Given the description of an element on the screen output the (x, y) to click on. 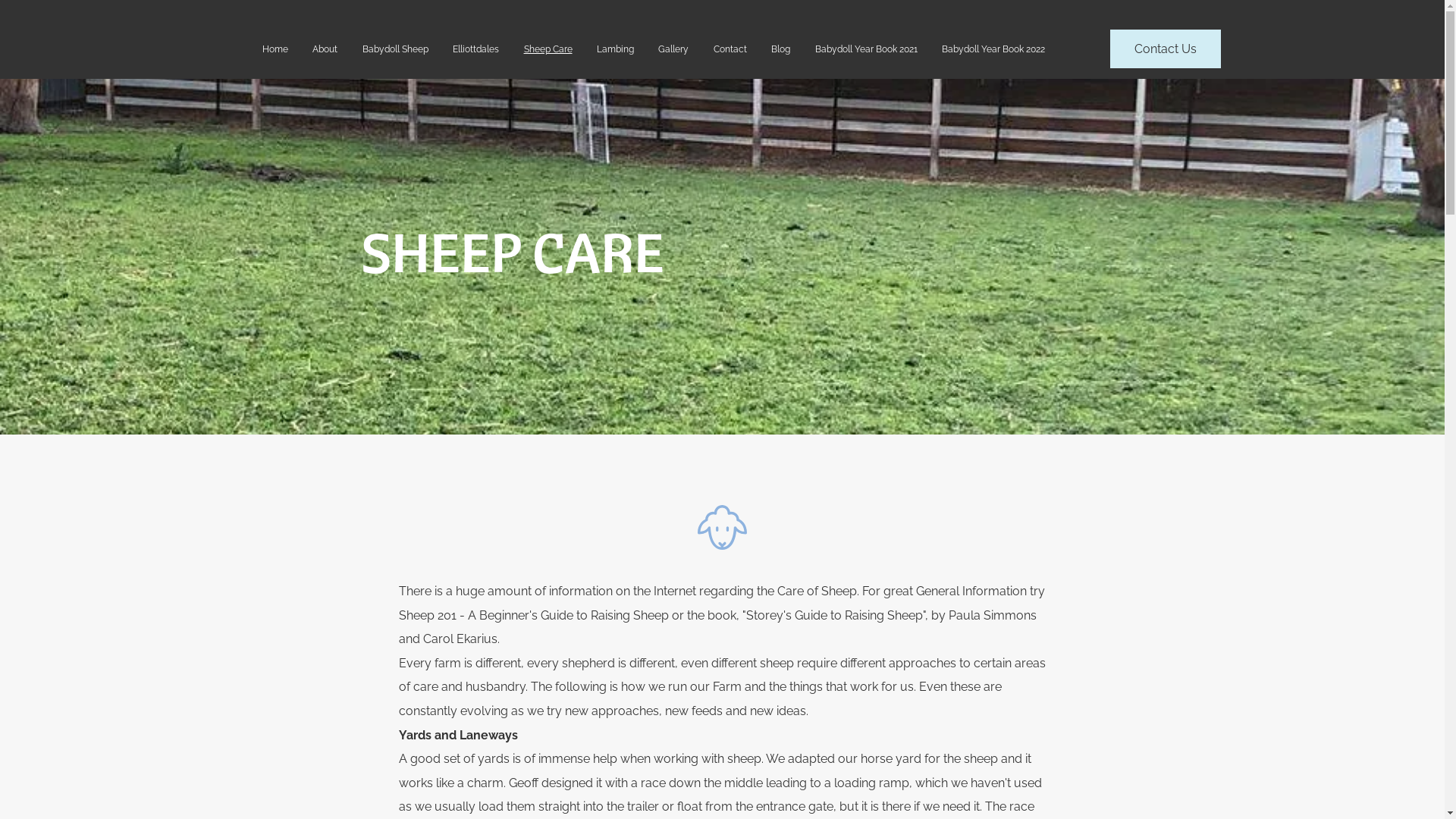
Contact Us Element type: text (1165, 48)
Elliottdales Element type: text (475, 49)
Babydoll Sheep Element type: text (394, 49)
Babydoll Year Book 2021 Element type: text (866, 49)
Contact Element type: text (730, 49)
Blog Element type: text (780, 49)
About Element type: text (324, 49)
Sheep Care Element type: text (547, 49)
Gallery Element type: text (673, 49)
Home Element type: text (275, 49)
Babydoll Year Book 2022 Element type: text (993, 49)
Lambing Element type: text (615, 49)
